Given the description of an element on the screen output the (x, y) to click on. 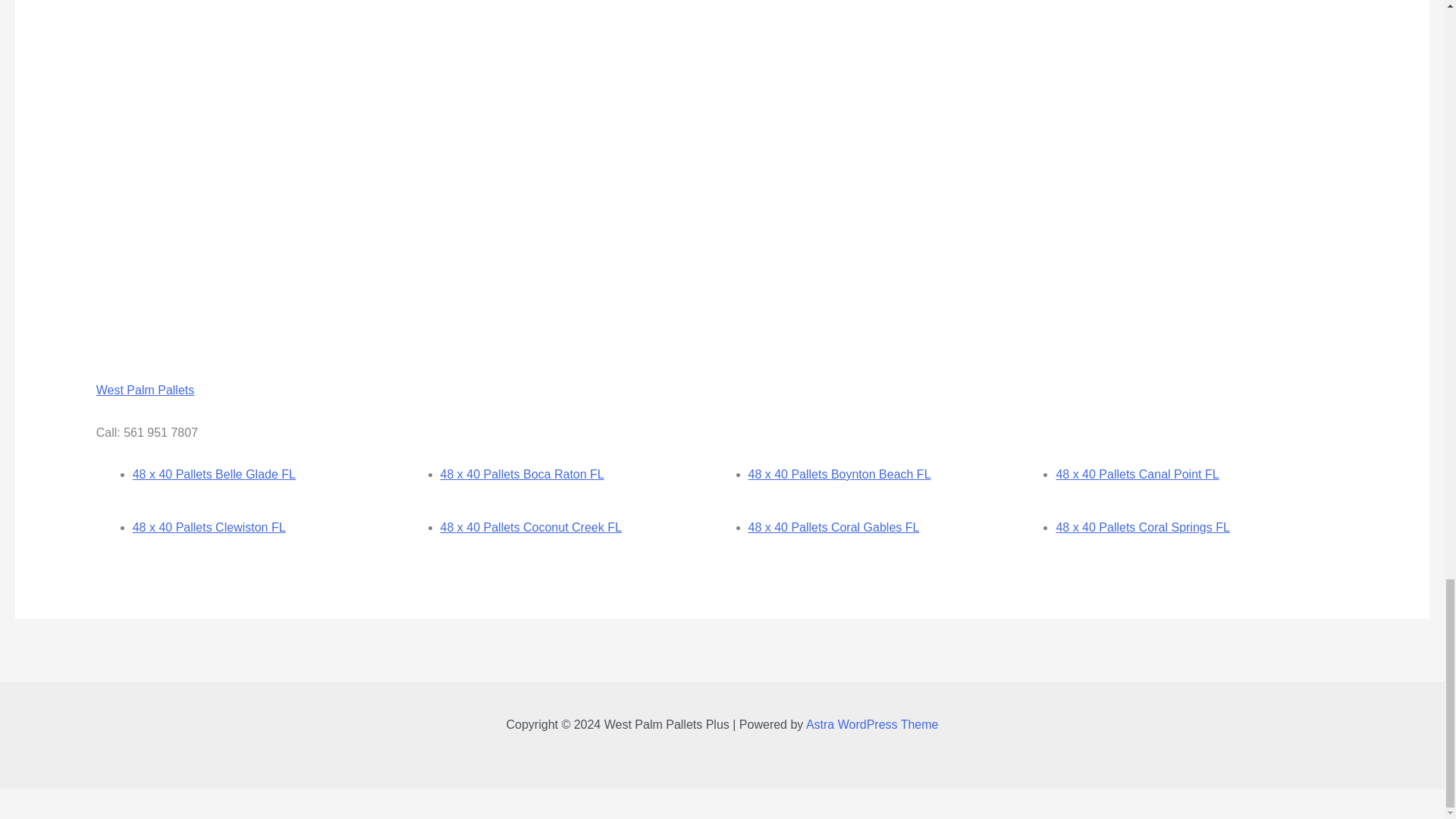
48 x 40 Pallets Belle Glade FL (213, 473)
48 x 40 Pallets Coral Gables FL (833, 526)
48 x 40 Pallets Coral Springs FL (1141, 526)
48 x 40 Pallets Boynton Beach FL (839, 473)
48 x 40 Pallets Clewiston FL (208, 526)
48 x 40 Pallets Coconut Creek FL (531, 526)
48 x 40 Pallets Boca Raton FL (522, 473)
48 x 40 Pallets Canal Point FL (1136, 473)
